Given the description of an element on the screen output the (x, y) to click on. 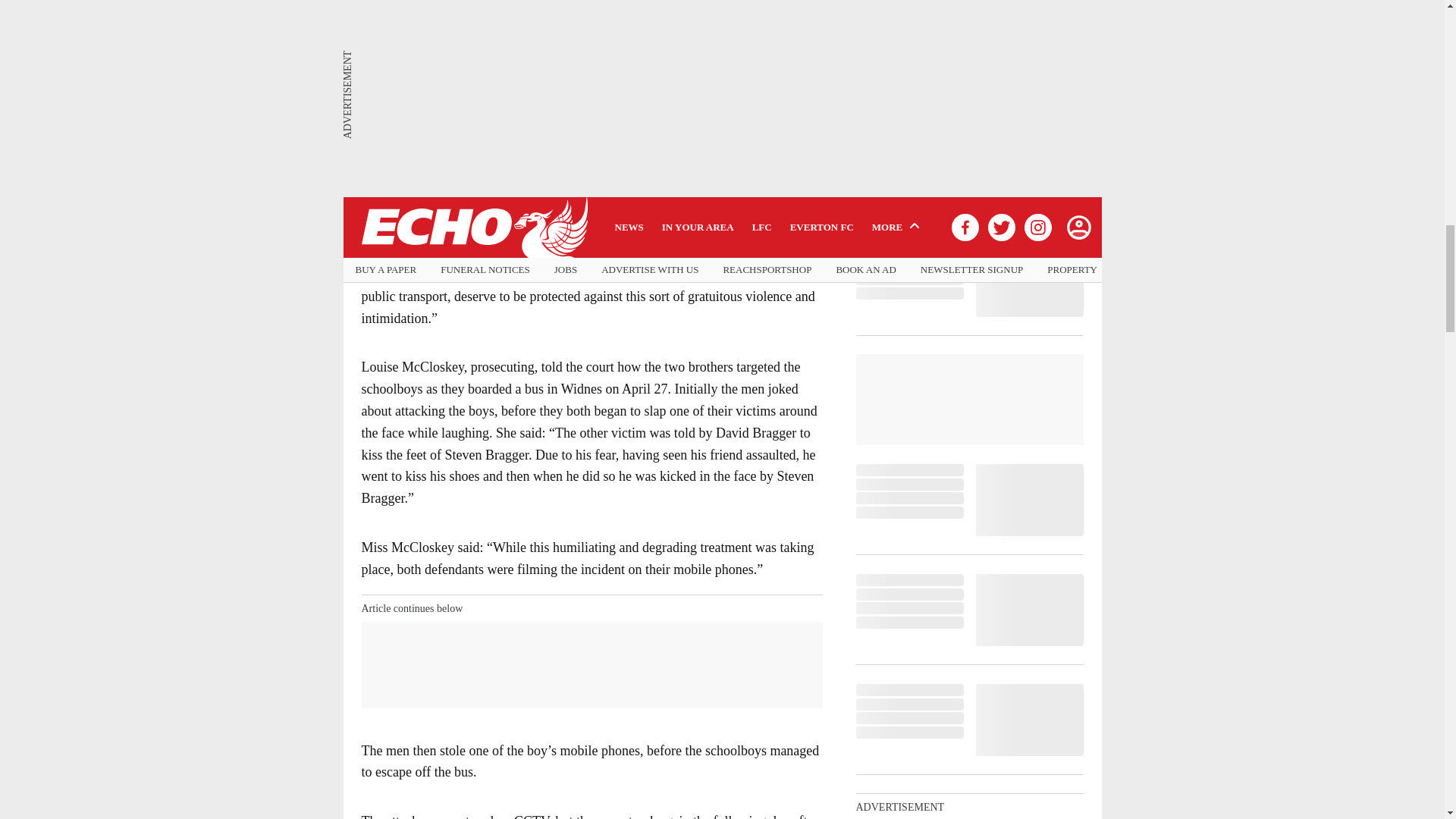
More Newsletters (591, 188)
Subscribe (771, 151)
More info (719, 224)
